Given the description of an element on the screen output the (x, y) to click on. 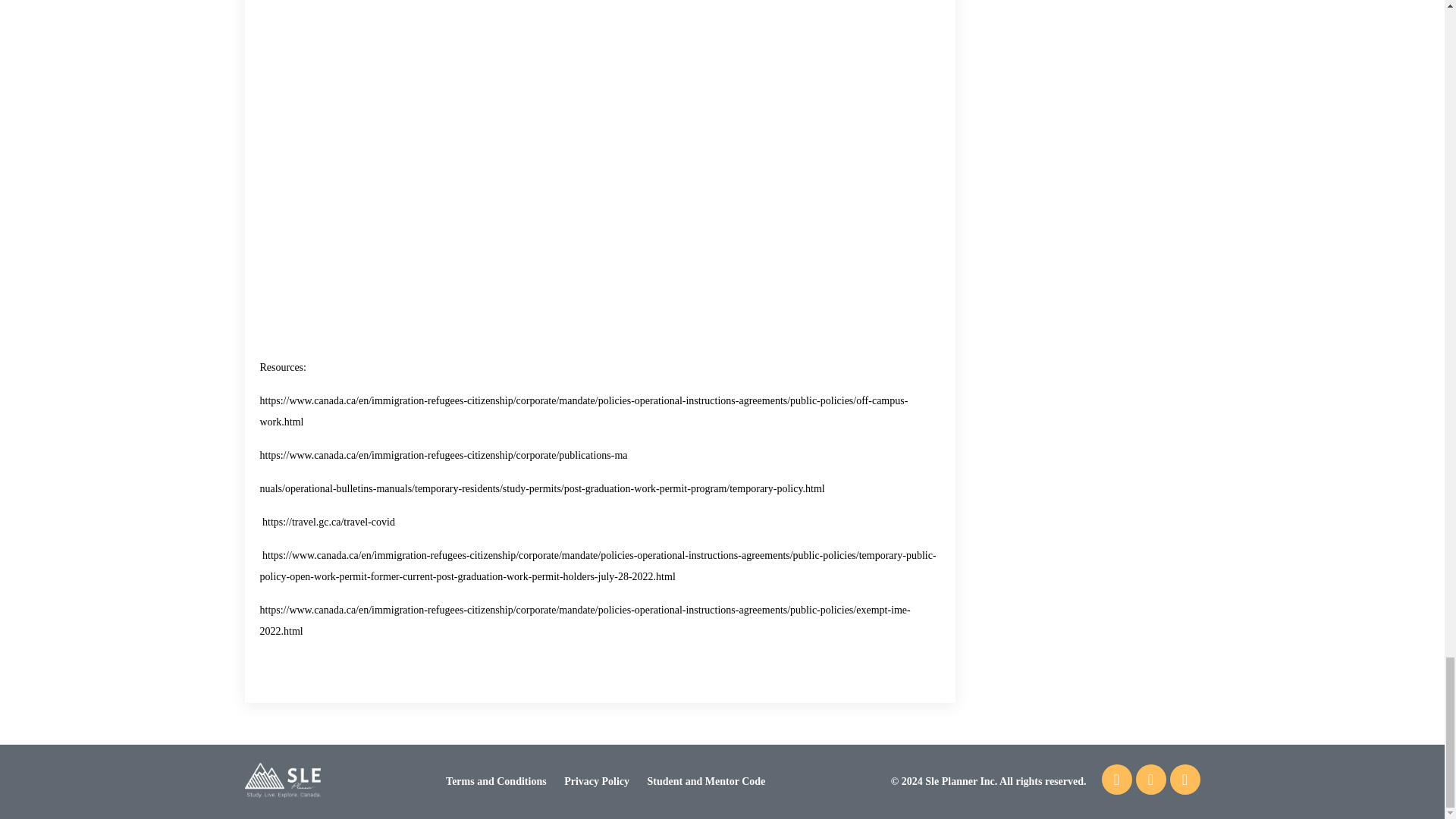
Terms and Conditions (496, 781)
Student and Mentor Code (706, 781)
Privacy Policy (596, 781)
